Given the description of an element on the screen output the (x, y) to click on. 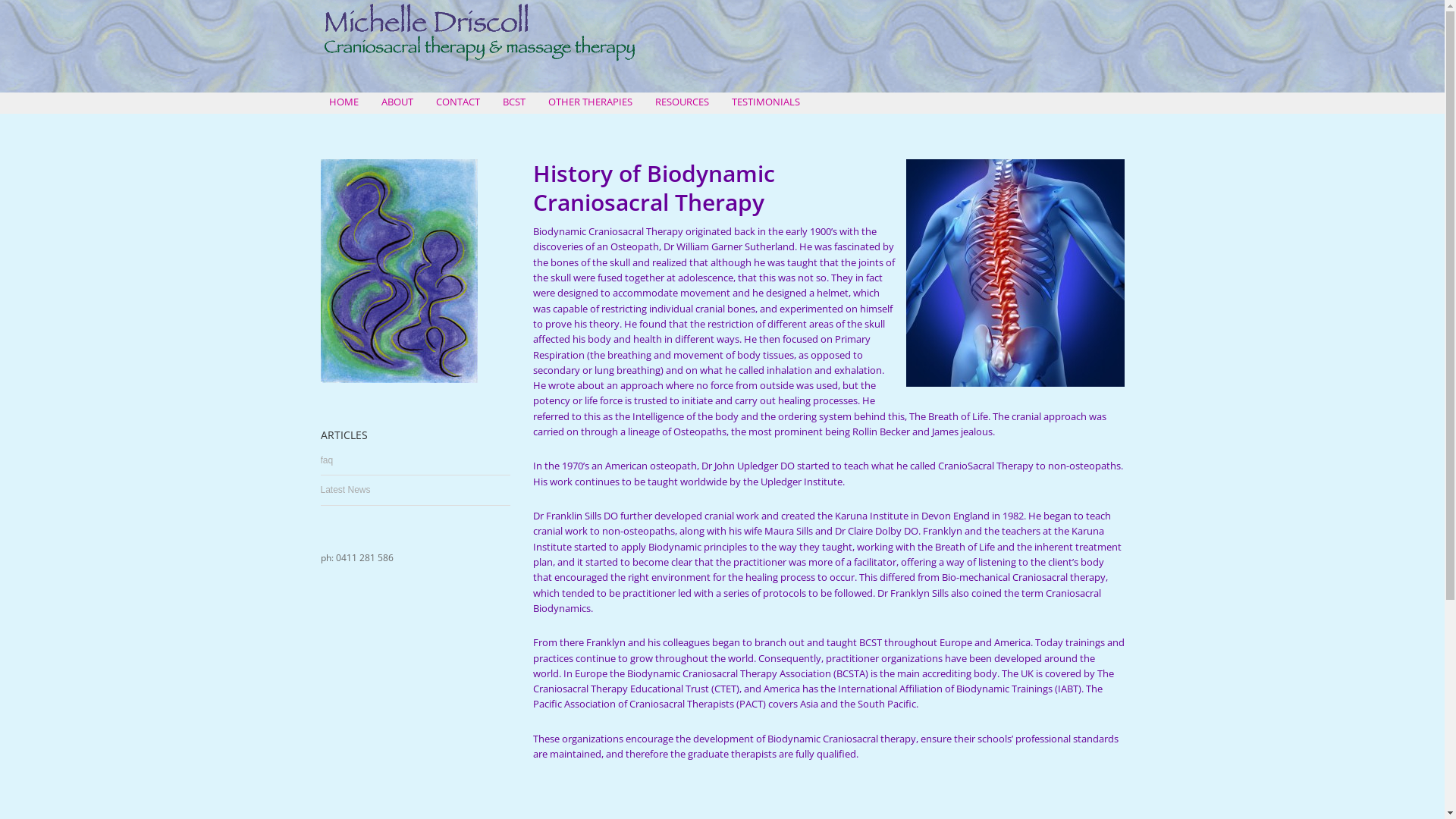
CONTACT Element type: text (458, 101)
Latest News Element type: text (345, 489)
ABOUT Element type: text (397, 101)
faq Element type: text (326, 460)
BCST Element type: text (513, 101)
OTHER THERAPIES Element type: text (590, 101)
RESOURCES Element type: text (682, 101)
TESTIMONIALS Element type: text (765, 101)
HOME Element type: text (343, 101)
